Given the description of an element on the screen output the (x, y) to click on. 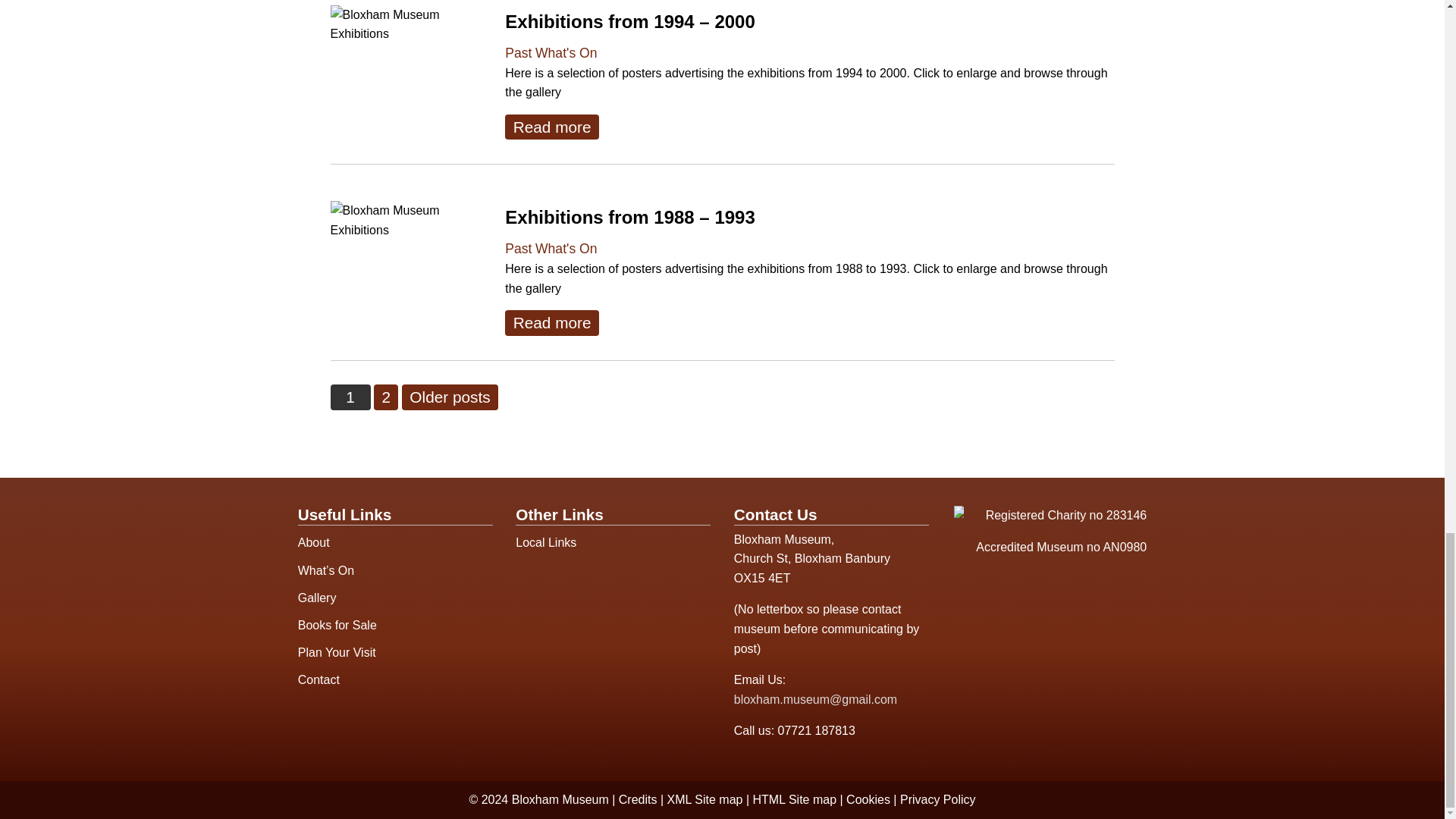
Read more (551, 126)
Plan Your Visit (395, 652)
Books for Sale (395, 625)
What's On (565, 52)
Past (518, 248)
XML Site map (705, 799)
Credits (639, 799)
HTML Site map (796, 799)
Older posts (449, 396)
What's On (565, 248)
